Given the description of an element on the screen output the (x, y) to click on. 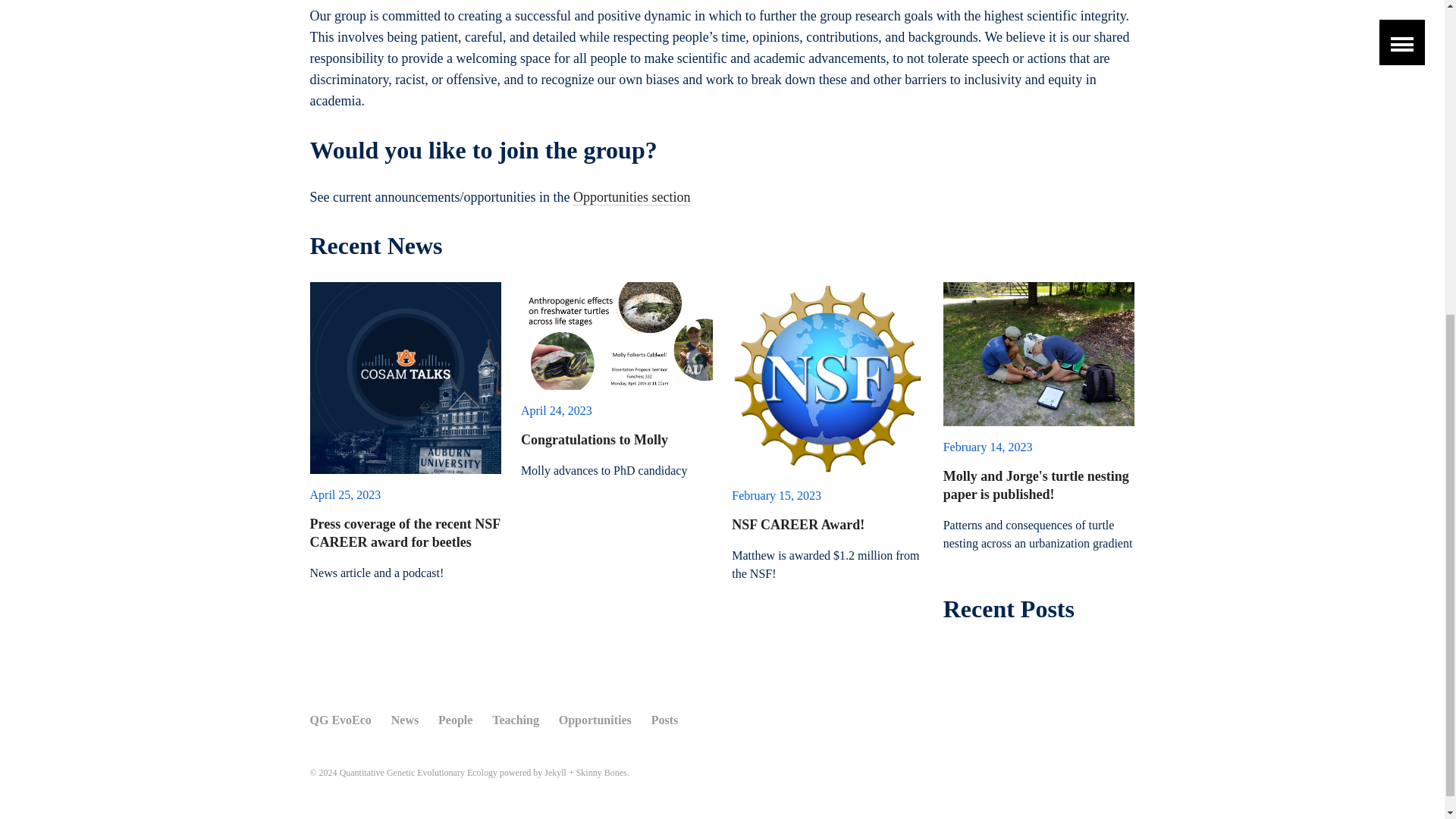
Opportunities (595, 722)
NSF CAREER Award! (827, 378)
Molly and Jorge's turtle nesting paper is published! (1039, 353)
Press coverage of the recent NSF CAREER award for beetles (404, 377)
Congratulations to Molly (617, 335)
Skinny Bones (601, 772)
Press coverage of the recent NSF CAREER award for beetles (403, 532)
NSF CAREER Award! (798, 524)
Molly and Jorge's turtle nesting paper is published! (1036, 485)
Quantitative Genetic Evolutionary Ecology (418, 772)
